Given the description of an element on the screen output the (x, y) to click on. 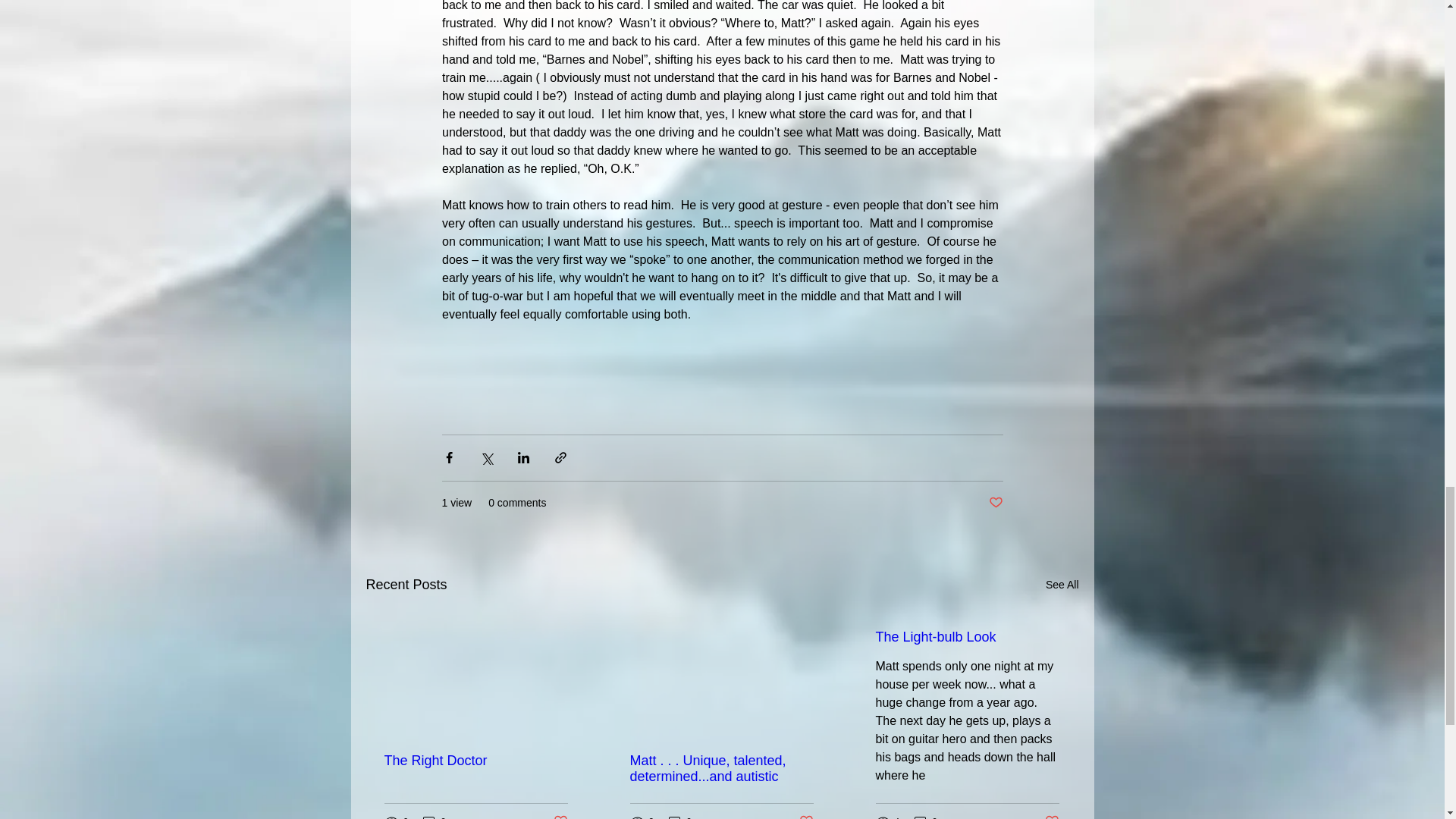
0 (679, 816)
Matt . . . Unique, talented, determined...and autistic (720, 768)
The Right Doctor (475, 760)
See All (1061, 585)
Post not marked as liked (560, 816)
Post not marked as liked (995, 503)
0 (434, 816)
